Given the description of an element on the screen output the (x, y) to click on. 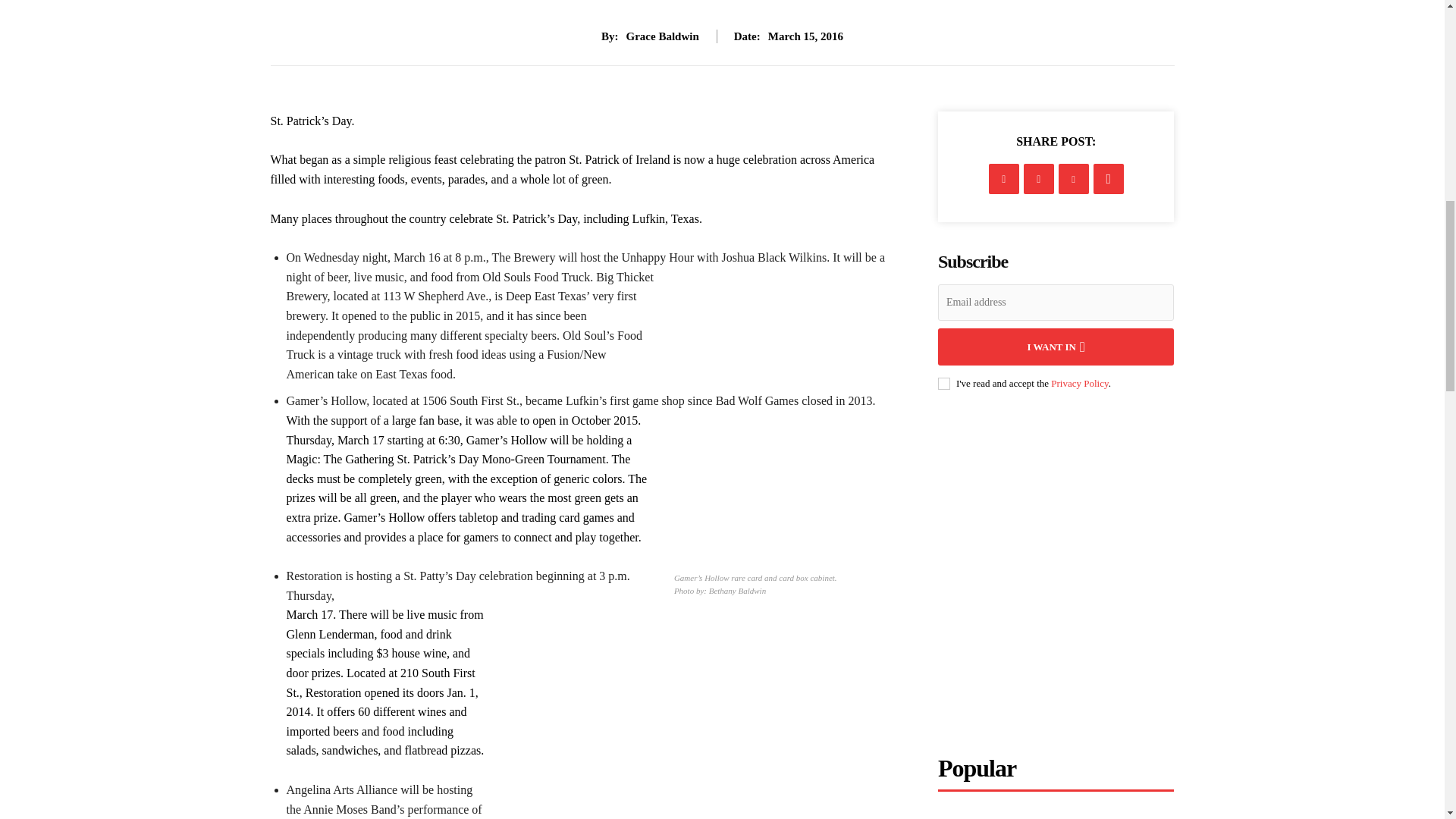
Angelina College Weekly Update (1055, 814)
Facebook (1003, 178)
Pinterest (1073, 178)
WhatsApp (1108, 178)
Twitter (1038, 178)
